Given the description of an element on the screen output the (x, y) to click on. 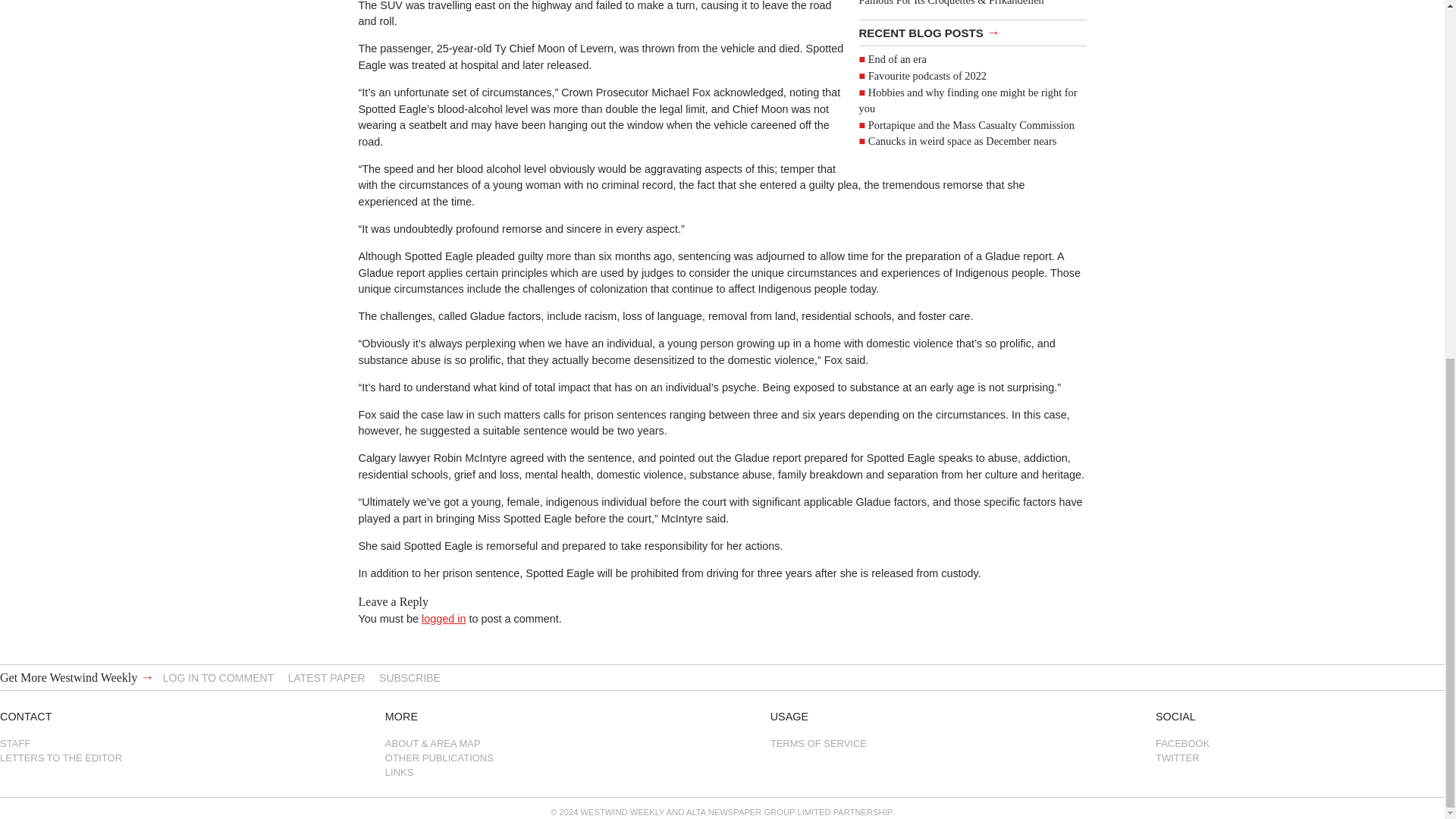
Canucks in weird space as December nears (962, 141)
End of an era (896, 59)
Favourite podcasts of 2022 (927, 75)
Hobbies and why finding one might be right for you (968, 99)
Portapique and the Mass Casualty Commission (970, 124)
